Given the description of an element on the screen output the (x, y) to click on. 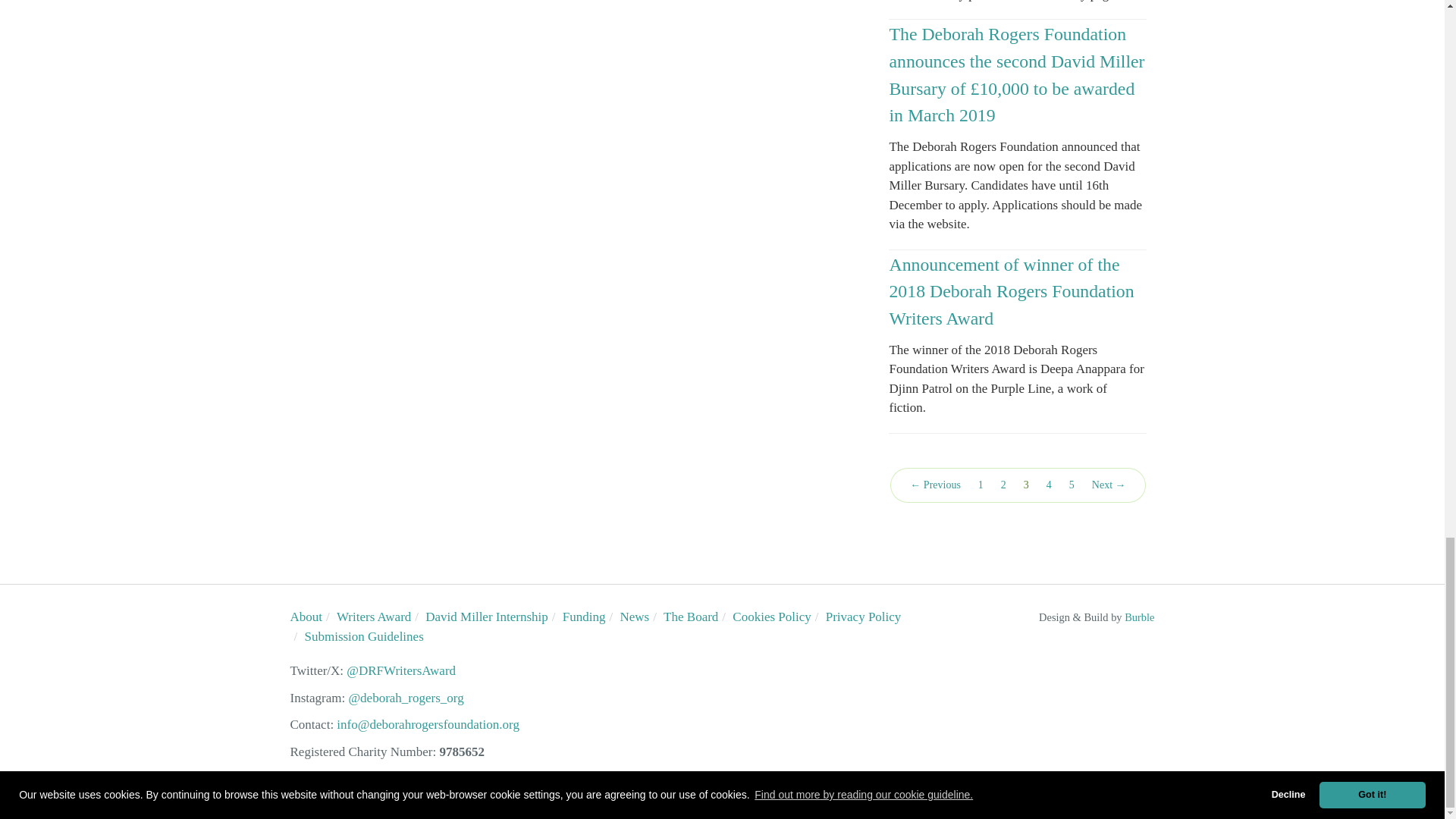
David Miller Internship (486, 616)
Privacy Policy (863, 616)
Writers Award (373, 616)
Cookies Policy (771, 616)
The Board (690, 616)
About (305, 616)
Submission Guidelines (363, 636)
Funding (583, 616)
News (634, 616)
